Given the description of an element on the screen output the (x, y) to click on. 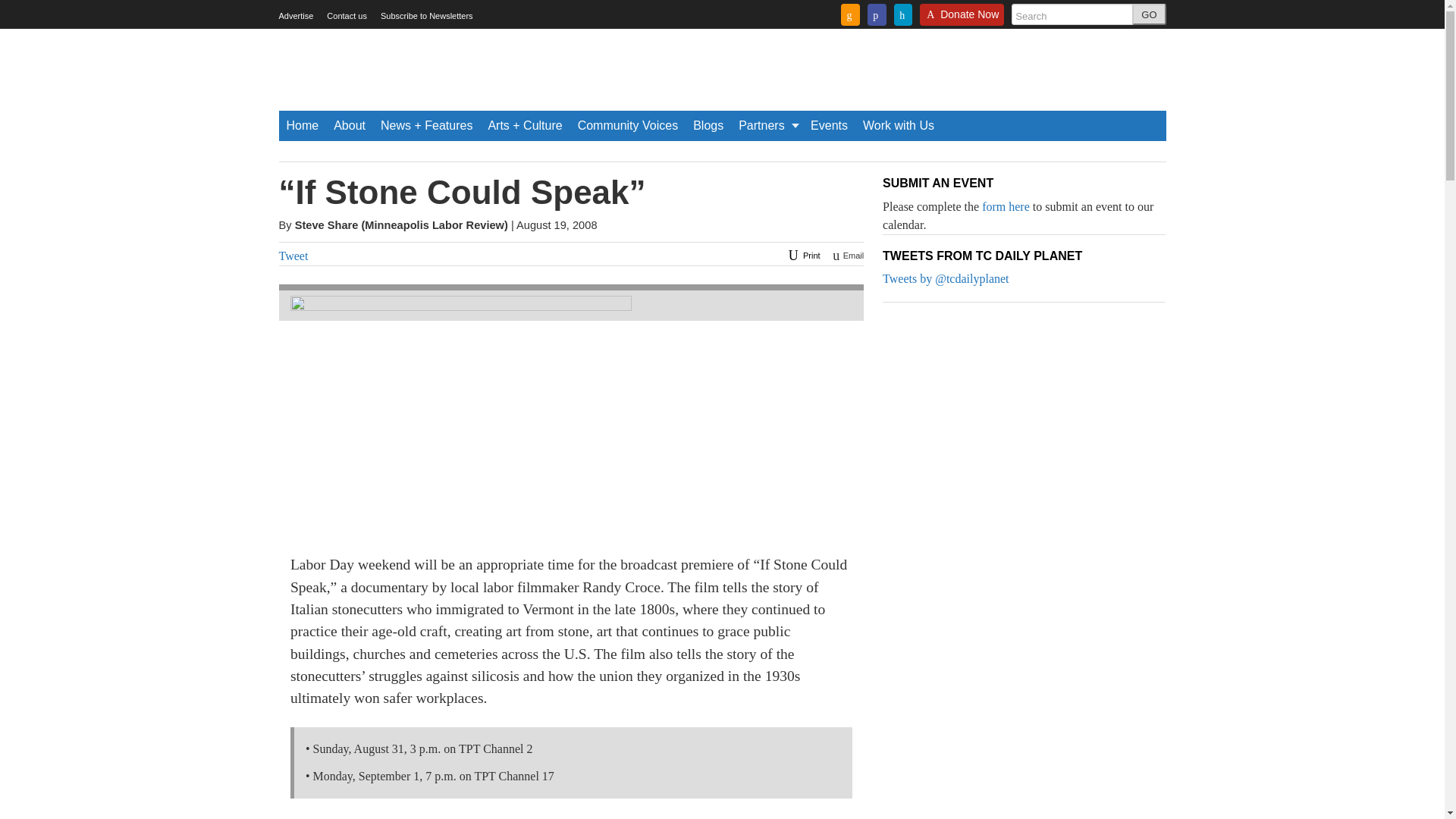
Community Voices (627, 125)
Print (801, 255)
Link to Twitter Page (902, 14)
About (349, 125)
Link to Facebook Profile (876, 14)
Partners (766, 125)
Events (829, 125)
Tweet (293, 255)
Contact us (346, 15)
Donate Now (962, 19)
Print this article (801, 255)
Home (302, 125)
form here (1005, 205)
Advertise (296, 15)
GO (1149, 14)
